Given the description of an element on the screen output the (x, y) to click on. 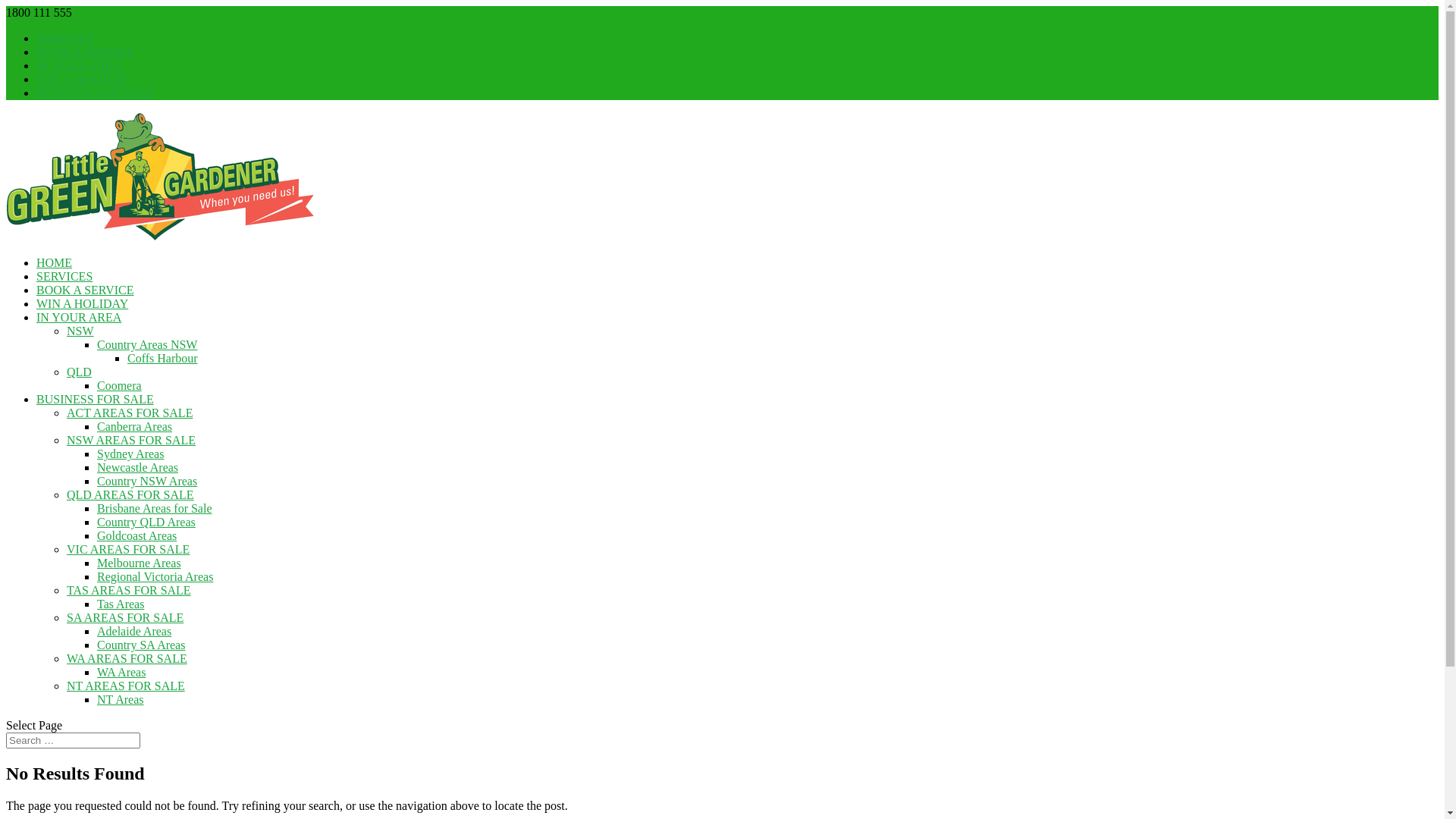
WA Areas Element type: text (121, 671)
SERVICES Element type: text (64, 275)
IN YOUR AREA Element type: text (78, 65)
VIC AREAS FOR SALE Element type: text (127, 548)
WIN A HOLIDAY Element type: text (82, 303)
WIN A HOLIDAY Element type: text (82, 78)
SERVICES Element type: text (64, 37)
BOOK A SERVICE Element type: text (85, 51)
QLD AREAS FOR SALE Element type: text (130, 494)
Coffs Harbour Element type: text (162, 357)
Regional Victoria Areas Element type: text (155, 576)
Newcastle Areas Element type: text (137, 467)
NT AREAS FOR SALE Element type: text (125, 685)
Sydney Areas Element type: text (130, 453)
Country SA Areas Element type: text (141, 644)
TAS AREAS FOR SALE Element type: text (128, 589)
IN YOUR AREA Element type: text (78, 316)
NSW AREAS FOR SALE Element type: text (130, 439)
BUSINESS FOR SALE Element type: text (94, 398)
Tas Areas Element type: text (120, 603)
Country Areas NSW Element type: text (147, 344)
ACT AREAS FOR SALE Element type: text (129, 412)
Country NSW Areas Element type: text (147, 480)
Adelaide Areas Element type: text (134, 630)
Search for: Element type: hover (73, 740)
BOOK A SERVICE Element type: text (85, 289)
Country QLD Areas Element type: text (146, 521)
WA AREAS FOR SALE Element type: text (126, 658)
HOME Element type: text (54, 262)
Melbourne Areas Element type: text (139, 562)
SA AREAS FOR SALE Element type: text (124, 617)
NT Areas Element type: text (120, 699)
Goldcoast Areas Element type: text (136, 535)
Canberra Areas Element type: text (134, 426)
Coomera Element type: text (119, 385)
NSW Element type: text (80, 330)
Brisbane Areas for Sale Element type: text (154, 508)
QLD Element type: text (78, 371)
BUSINESS FOR SALE Element type: text (94, 92)
